Given the description of an element on the screen output the (x, y) to click on. 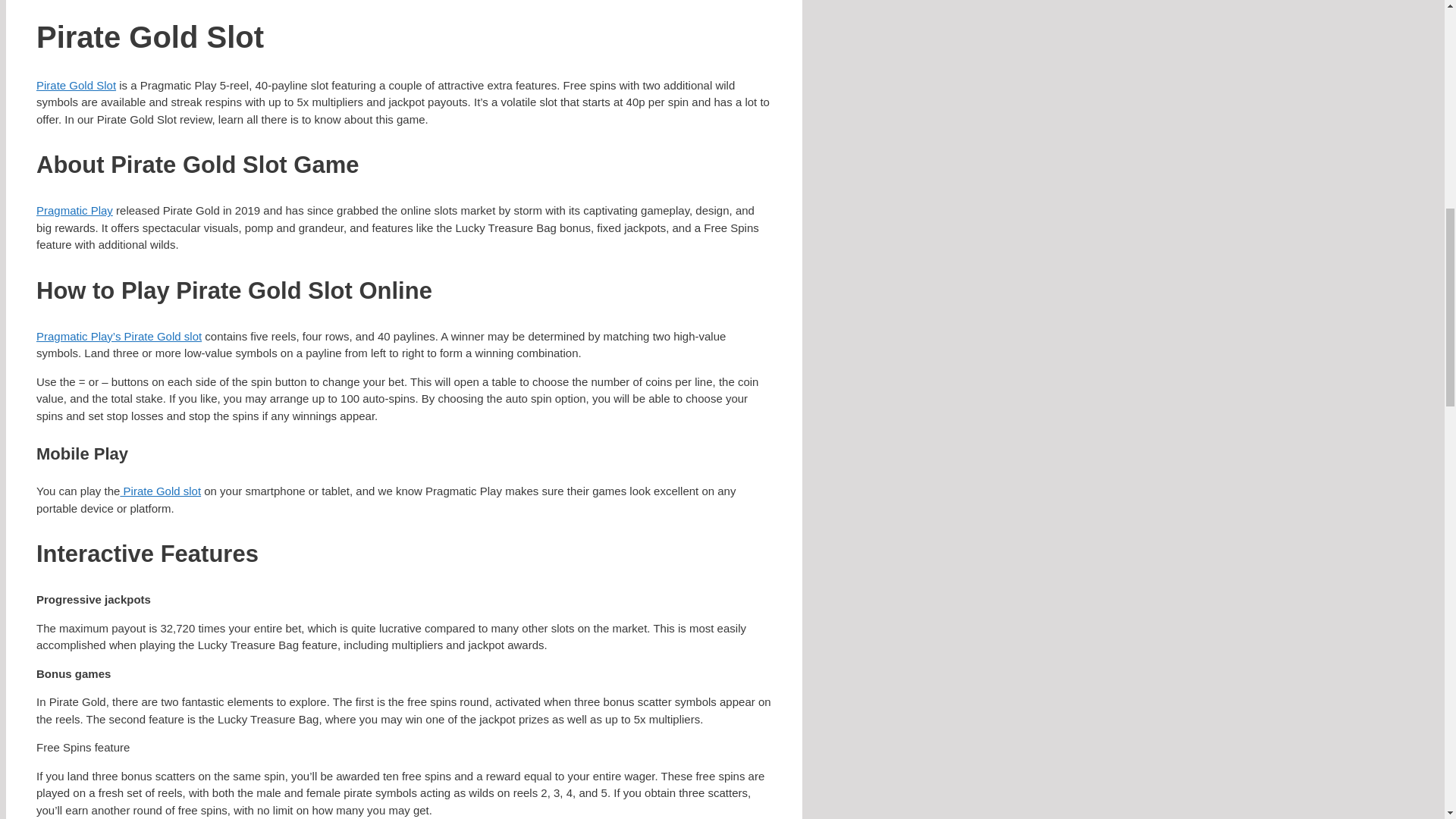
Pirate Gold slot (159, 490)
Pragmatic Play (74, 210)
Pirate Gold Slot (76, 84)
